Given the description of an element on the screen output the (x, y) to click on. 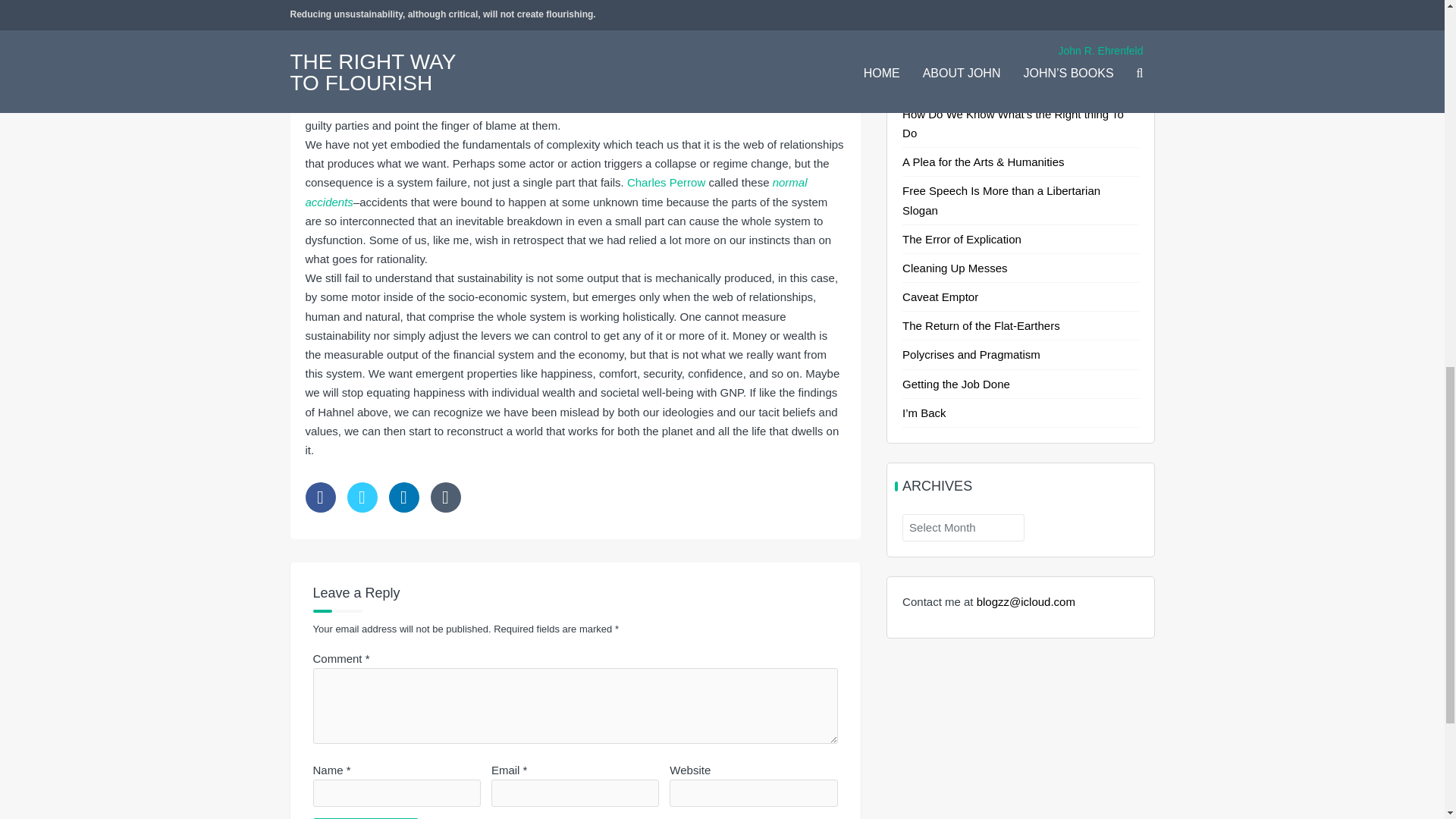
Facebook (319, 497)
normal accidents (555, 192)
The Importance of Being There (980, 2)
Free Speech Is More than a Libertarian Slogan (1001, 200)
Making Peace with Nature (968, 84)
Cleaning Up Messes (954, 267)
Twitter (362, 497)
Email (445, 497)
The Error of Explication (962, 238)
